Given the description of an element on the screen output the (x, y) to click on. 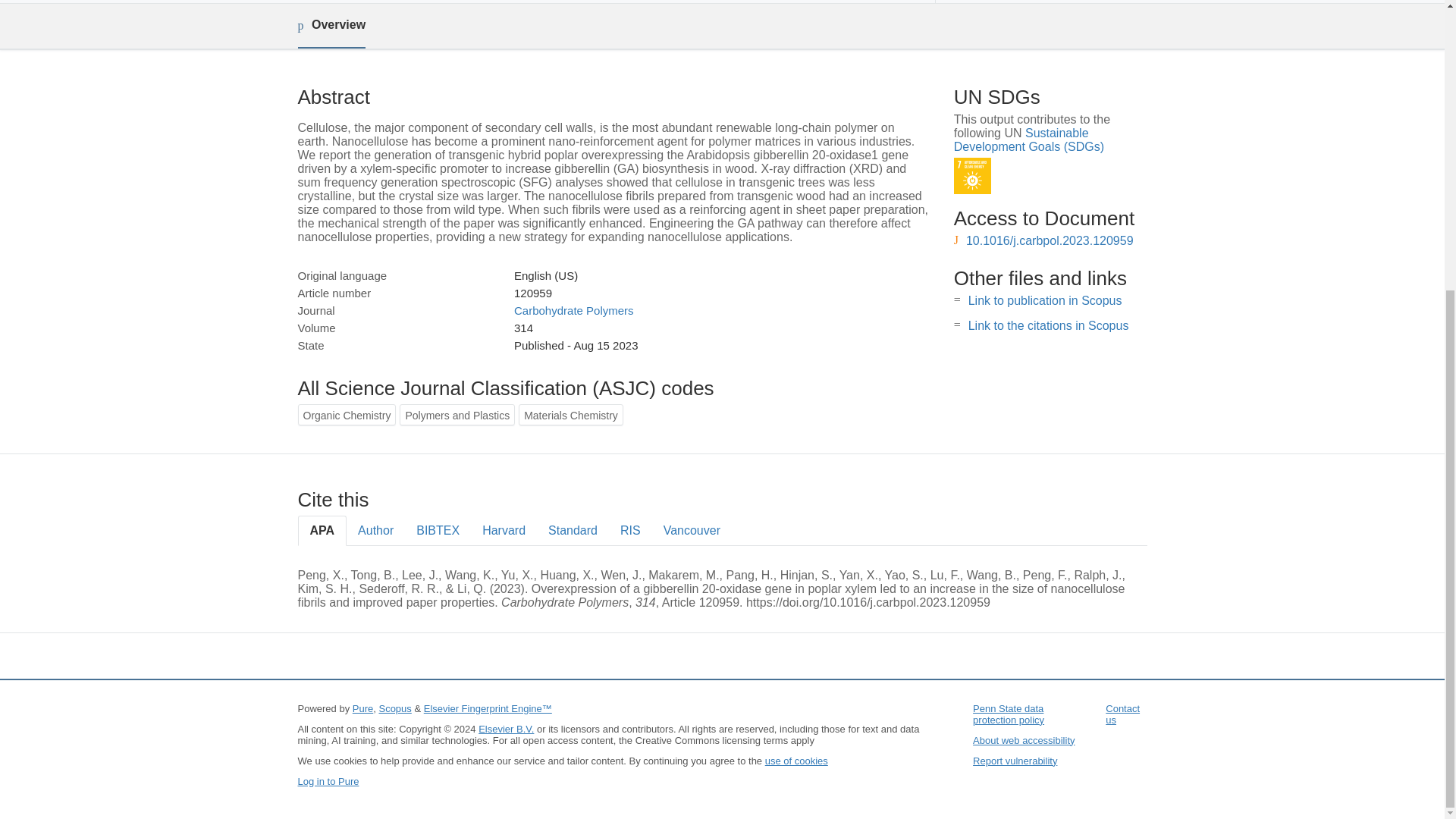
About web accessibility (1023, 740)
Log in to Pure (327, 781)
Link to the citations in Scopus (1048, 325)
Penn State data protection policy (1007, 713)
Report vulnerability (1014, 760)
Carbohydrate Polymers (573, 309)
Overview (331, 26)
Elsevier B.V. (506, 728)
Pure (362, 708)
SDG 7 - Affordable and Clean Energy (972, 176)
Contact us (1122, 713)
use of cookies (796, 760)
Scopus (394, 708)
Link to publication in Scopus (1045, 300)
